Given the description of an element on the screen output the (x, y) to click on. 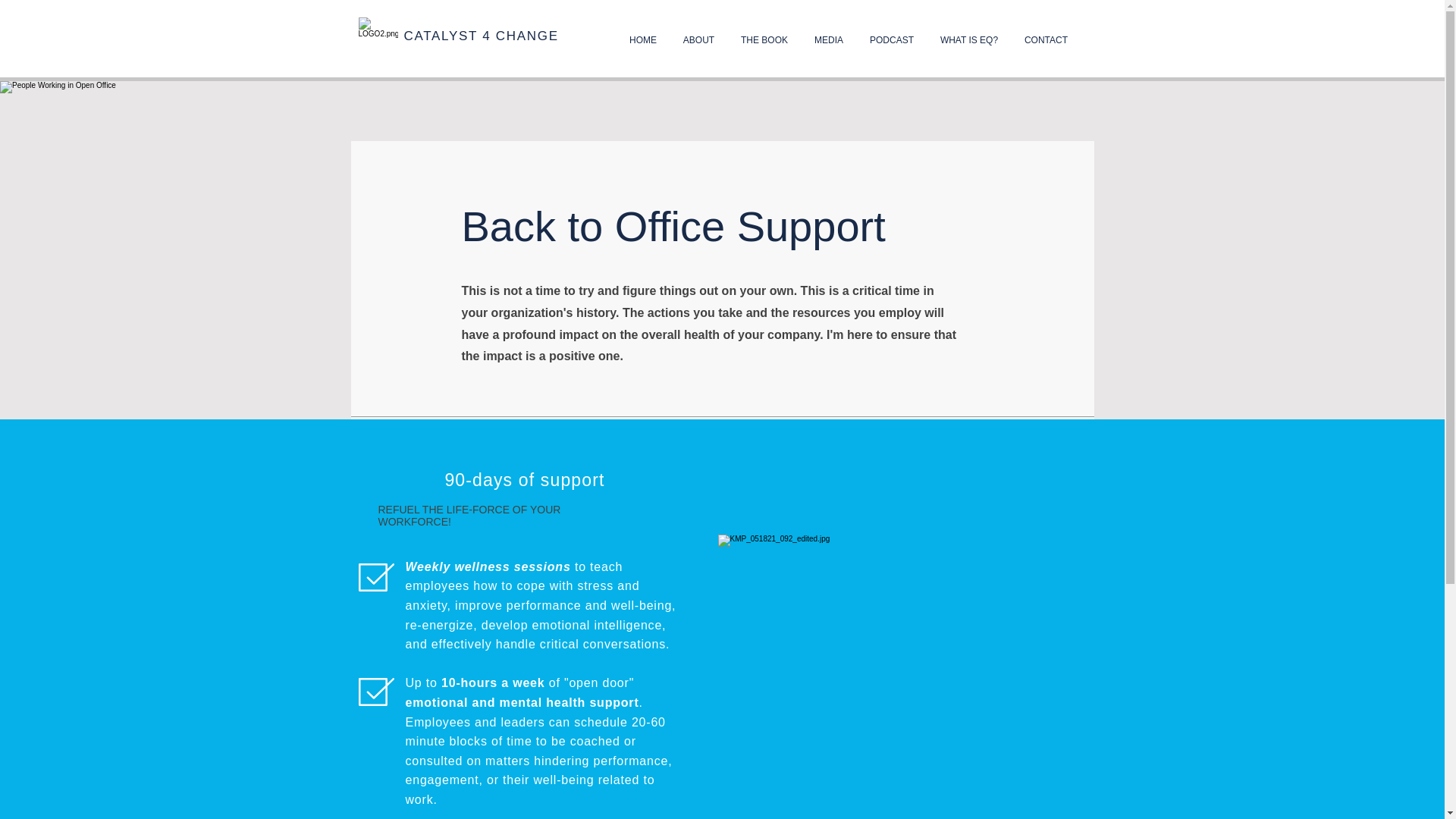
HOME (642, 39)
MEDIA (828, 39)
CONTACT (1046, 39)
THE BOOK (765, 39)
PODCAST (892, 39)
WHAT IS EQ? (968, 39)
ABOUT (698, 39)
